Given the description of an element on the screen output the (x, y) to click on. 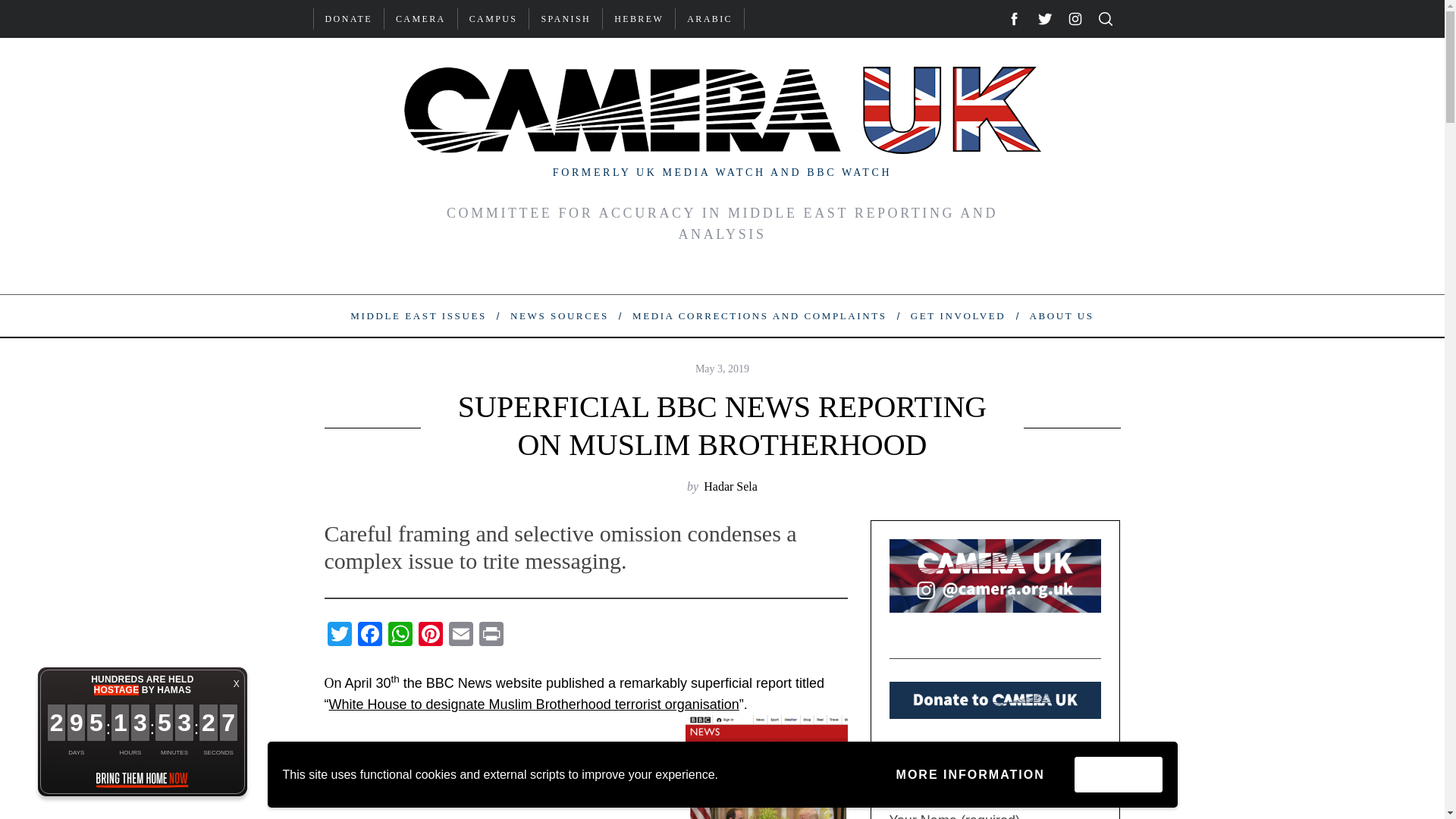
SPANISH (565, 18)
MEDIA CORRECTIONS AND COMPLAINTS (759, 315)
WhatsApp (399, 635)
Facebook (370, 635)
Facebook (370, 635)
Pinterest (429, 635)
Pinterest (429, 635)
Hadar Sela (730, 486)
Email (460, 635)
WhatsApp (399, 635)
GET INVOLVED (957, 315)
Print (491, 635)
DONATE (349, 18)
ACCEPT (1117, 774)
CAMPUS (493, 18)
